Given the description of an element on the screen output the (x, y) to click on. 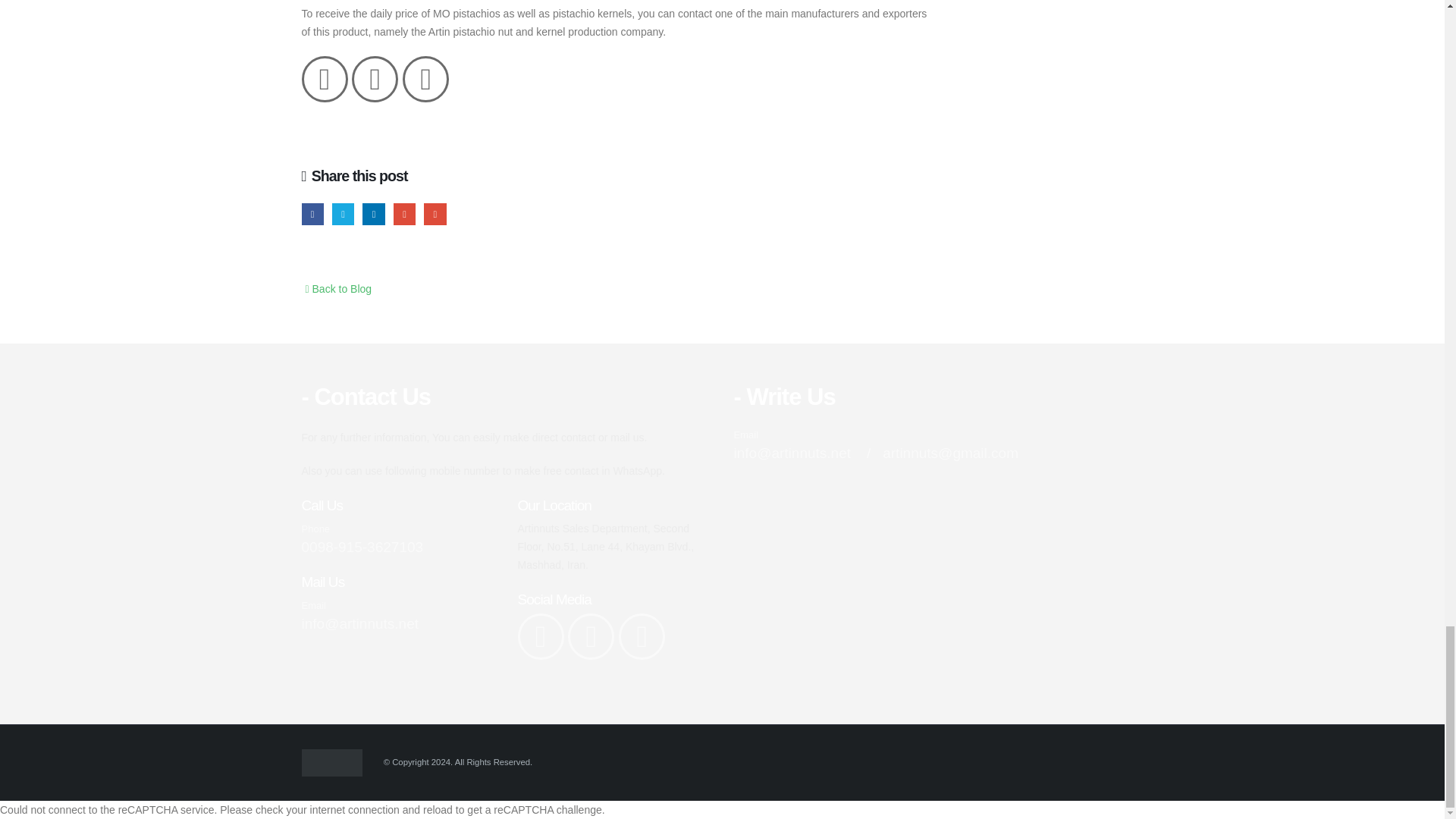
Call Us (398, 539)
